Given the description of an element on the screen output the (x, y) to click on. 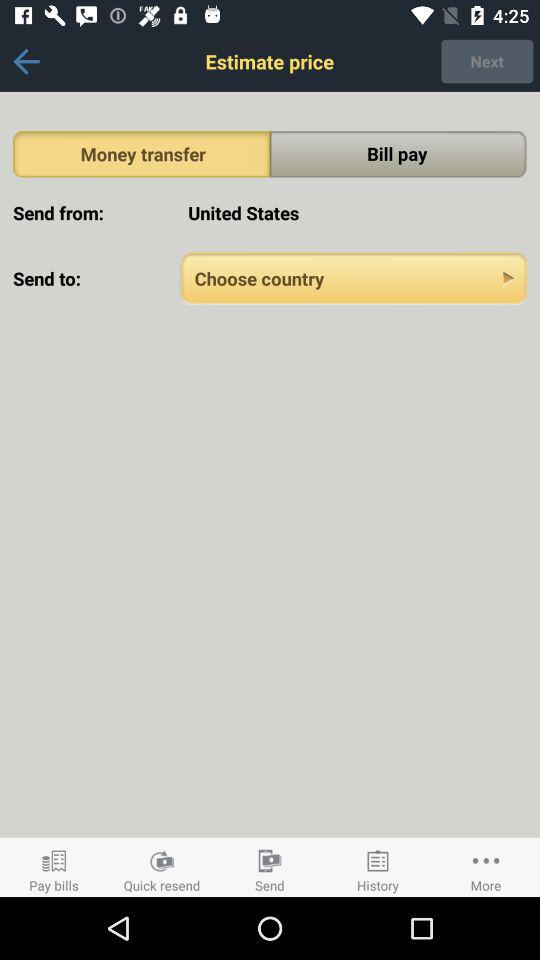
dropdown menu to select country (353, 278)
